Given the description of an element on the screen output the (x, y) to click on. 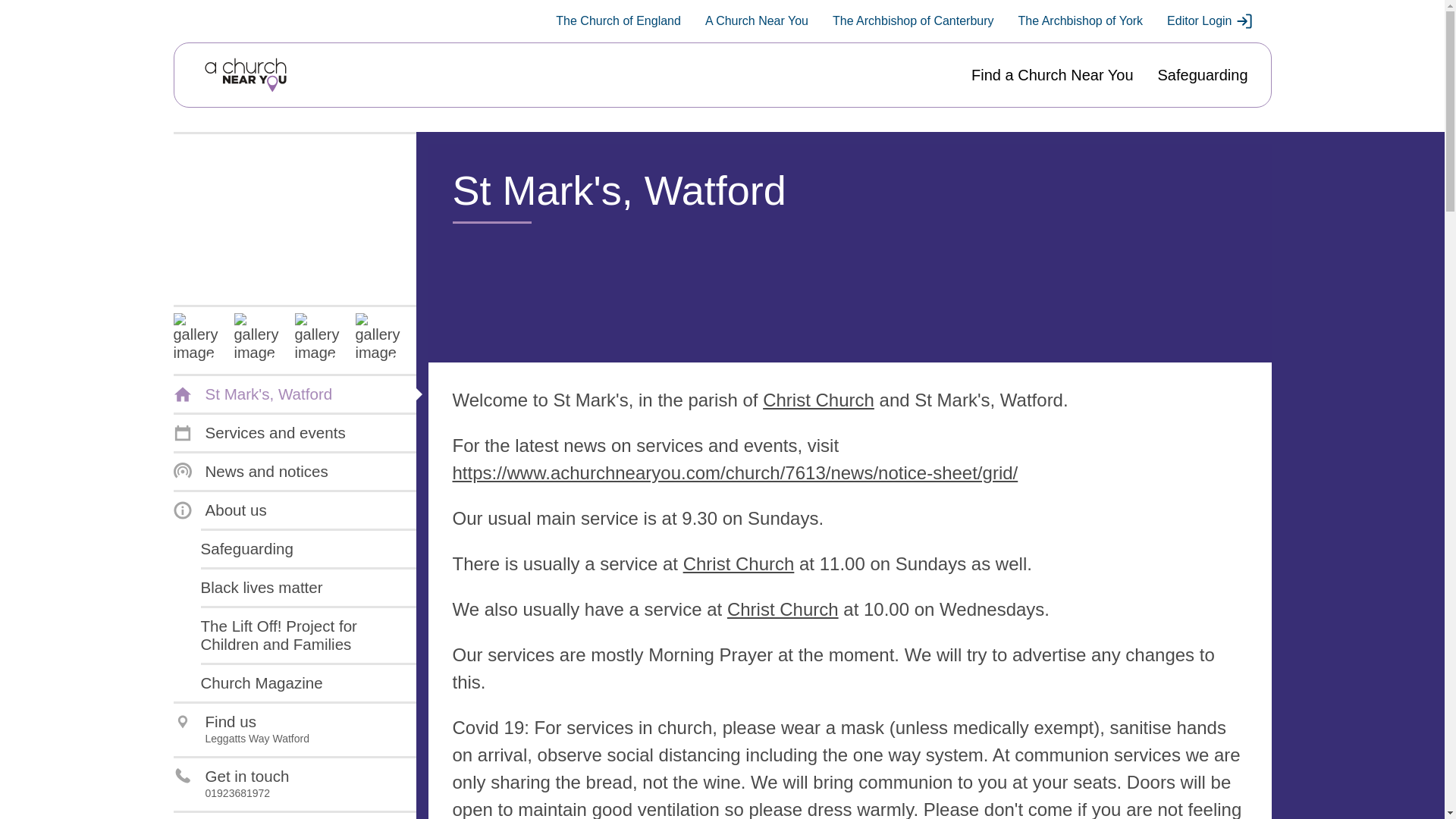
Editor Login (1209, 21)
ACNY home (245, 75)
The Church of England (618, 21)
The Archbishop of Canterbury (913, 21)
Safeguarding (1202, 75)
The Archbishop of York (1079, 21)
St Mark's, Watford (252, 393)
Find a Church Near You (1051, 75)
